Given the description of an element on the screen output the (x, y) to click on. 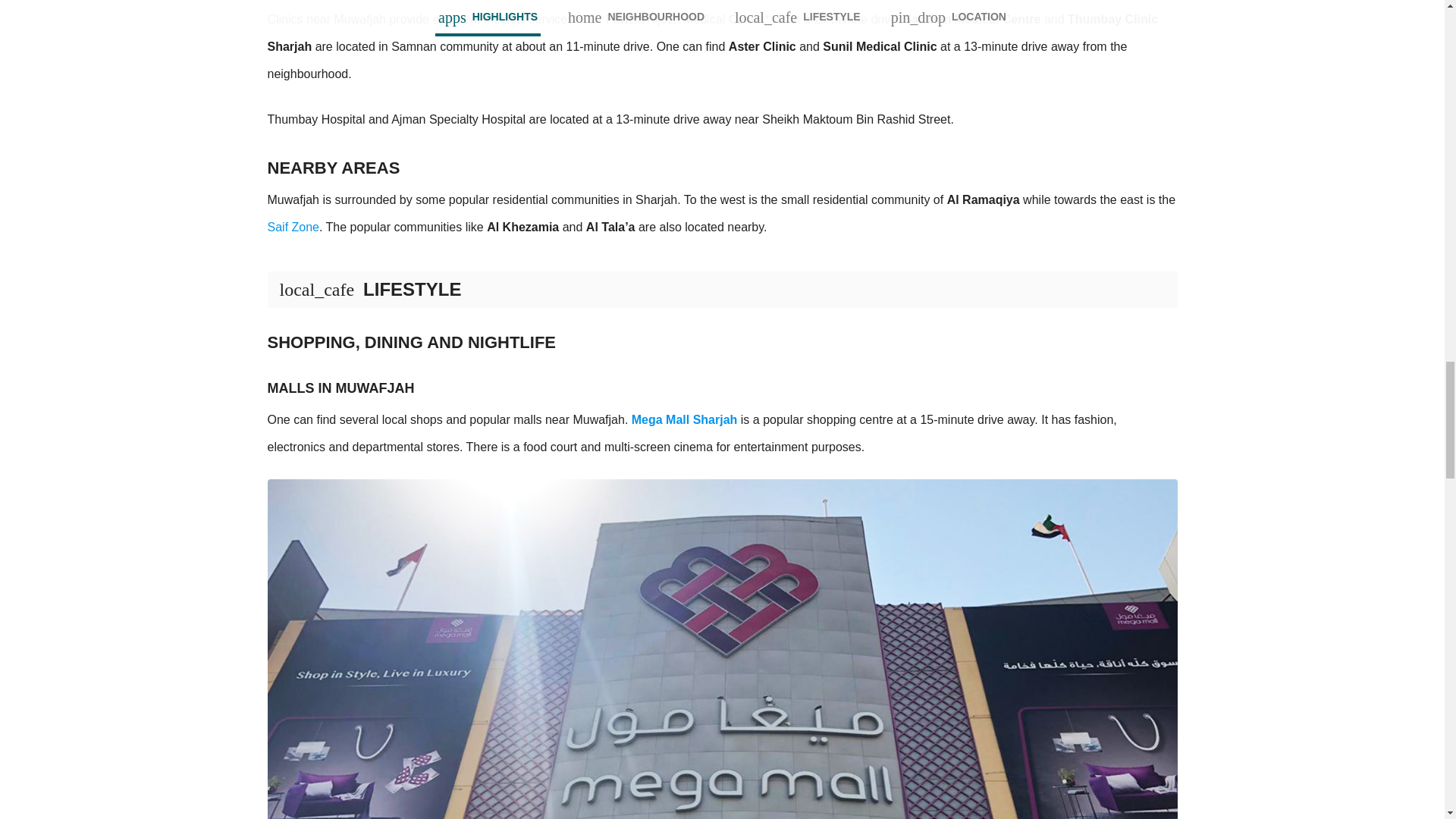
NEARBY AREAS (721, 150)
SHOPPING, DINING AND NIGHTLIFE (721, 323)
MALLS IN MUWAFJAH (721, 369)
